Given the description of an element on the screen output the (x, y) to click on. 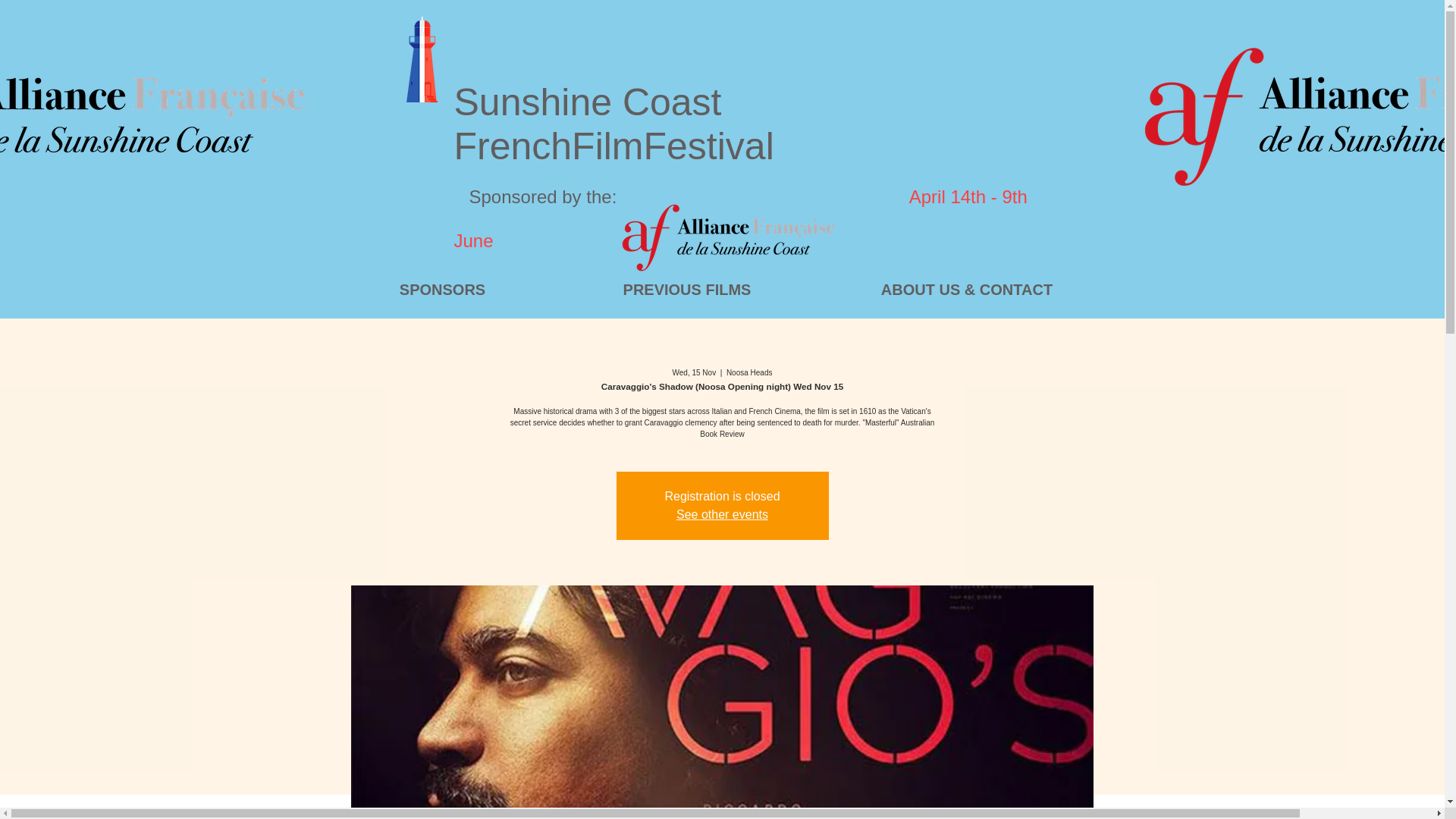
PREVIOUS FILMS (686, 289)
See other events (722, 513)
SPONSORS (441, 289)
